Given the description of an element on the screen output the (x, y) to click on. 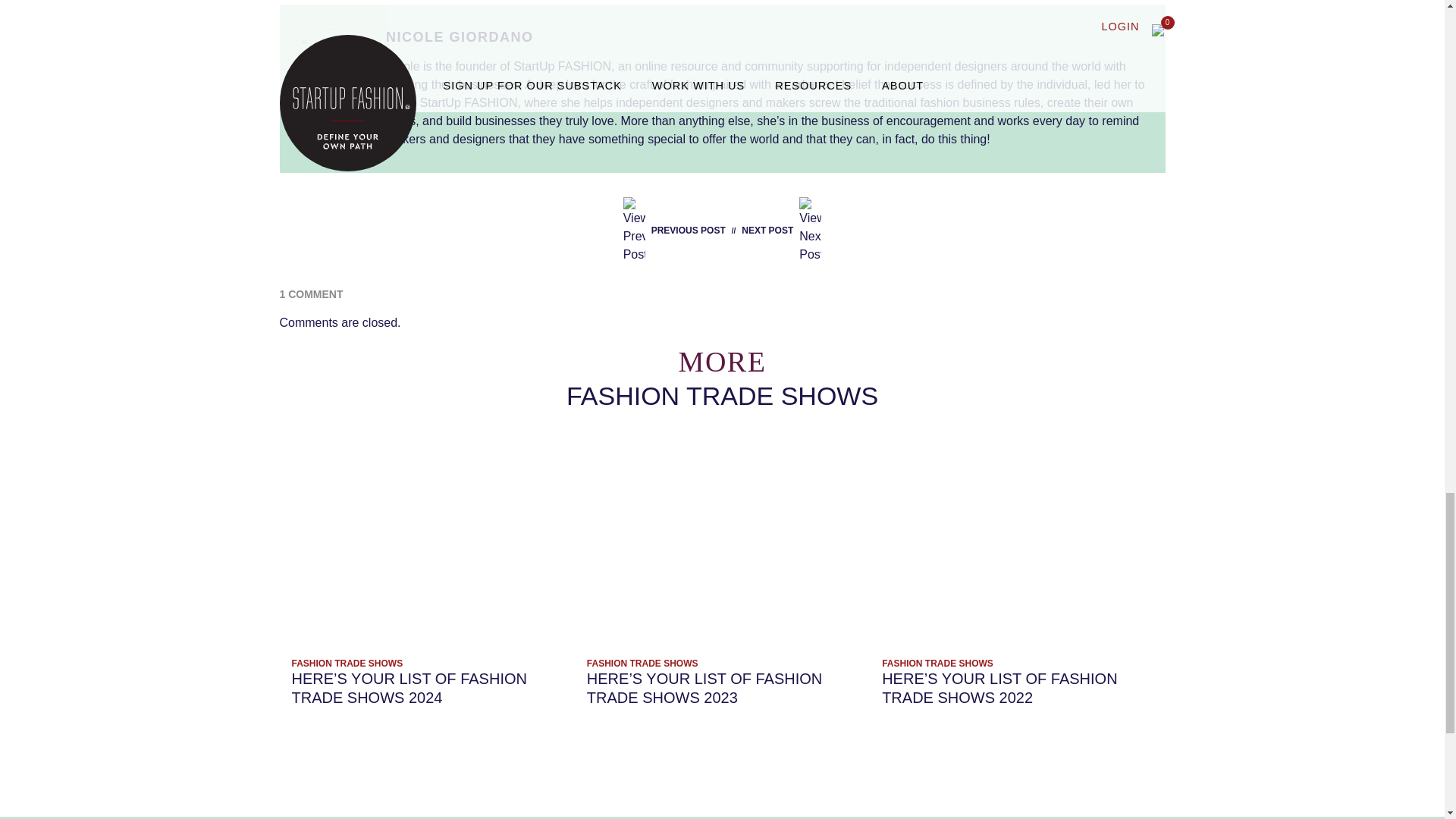
PREVIOUS POST (677, 230)
FASHION TRADE SHOWS (347, 663)
FASHION TRADE SHOWS (642, 663)
NICOLE GIORDANO (459, 37)
